Given the description of an element on the screen output the (x, y) to click on. 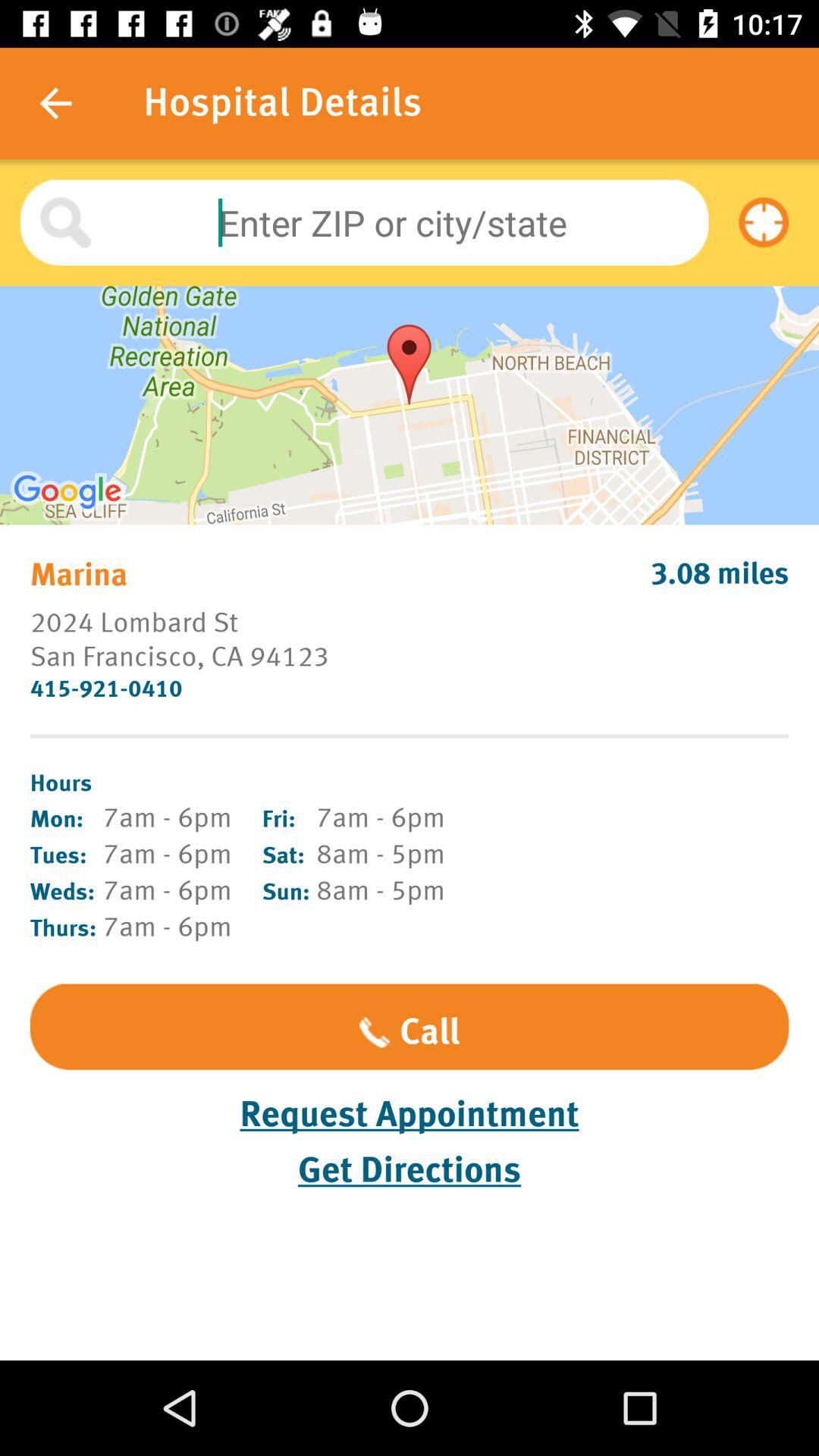
turn off item next to the hospital details icon (55, 103)
